Given the description of an element on the screen output the (x, y) to click on. 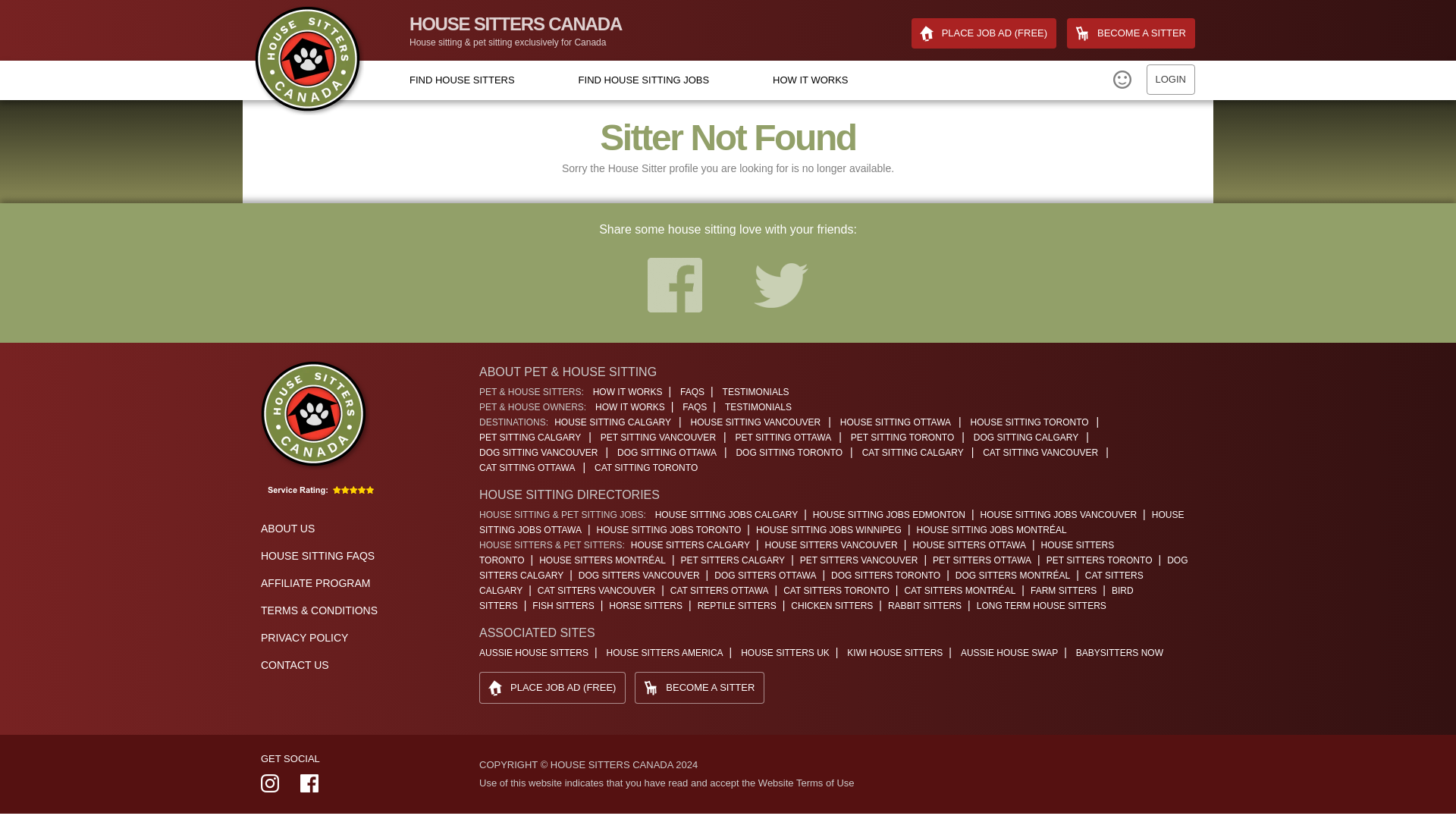
HOUSE SITTING VANCOUVER (759, 422)
HOUSE SITTING TORONTO (1033, 422)
HOW IT WORKS (627, 391)
BECOME A SITTER (1131, 33)
HOUSE SITTING FAQS (317, 555)
TESTIMONIALS (758, 407)
ABOUT US (287, 528)
HOW IT WORKS (810, 79)
HOUSE SITTING OTTAWA (899, 422)
LOGIN (1171, 79)
